Given the description of an element on the screen output the (x, y) to click on. 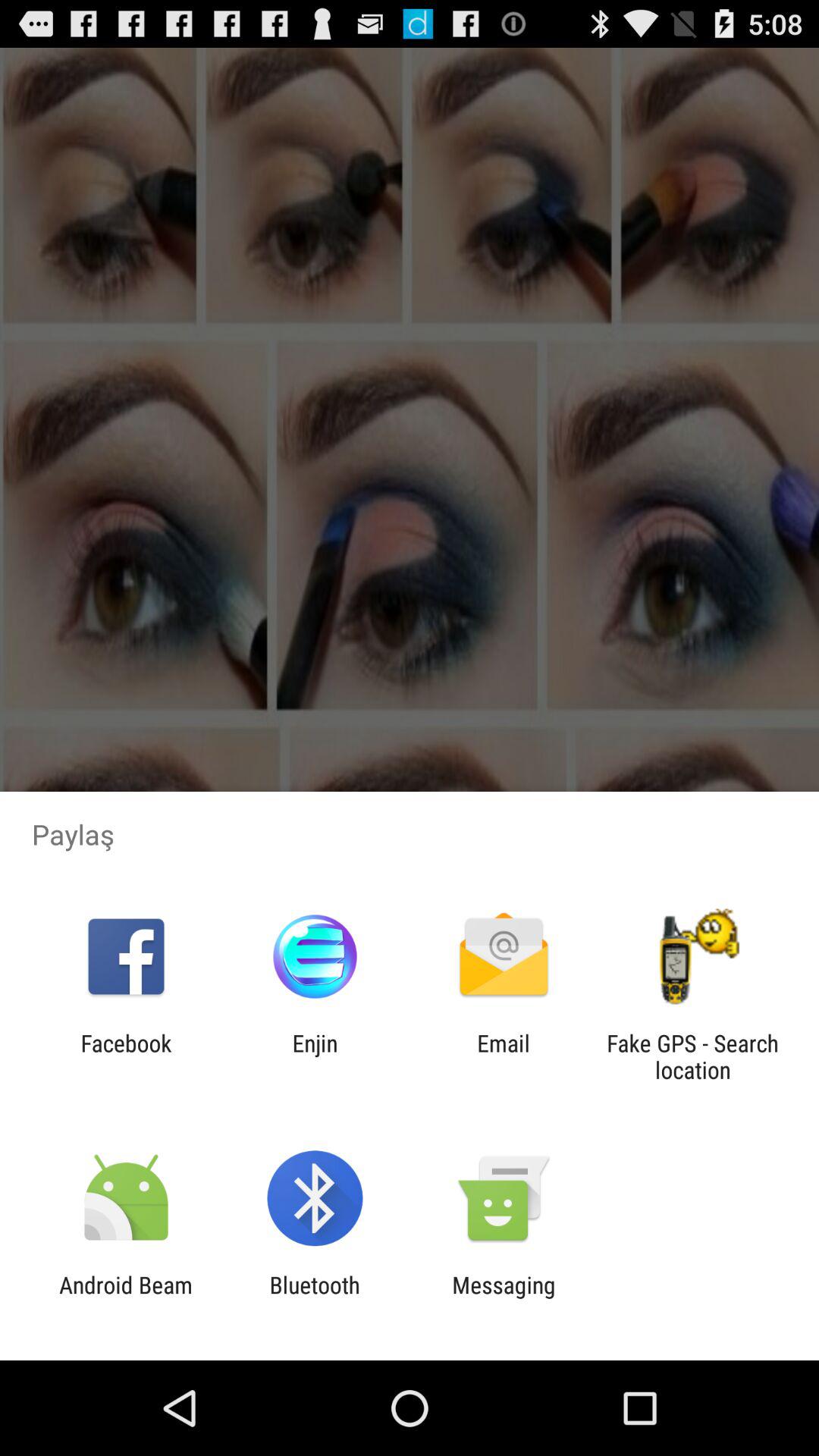
open item to the left of bluetooth (125, 1298)
